Given the description of an element on the screen output the (x, y) to click on. 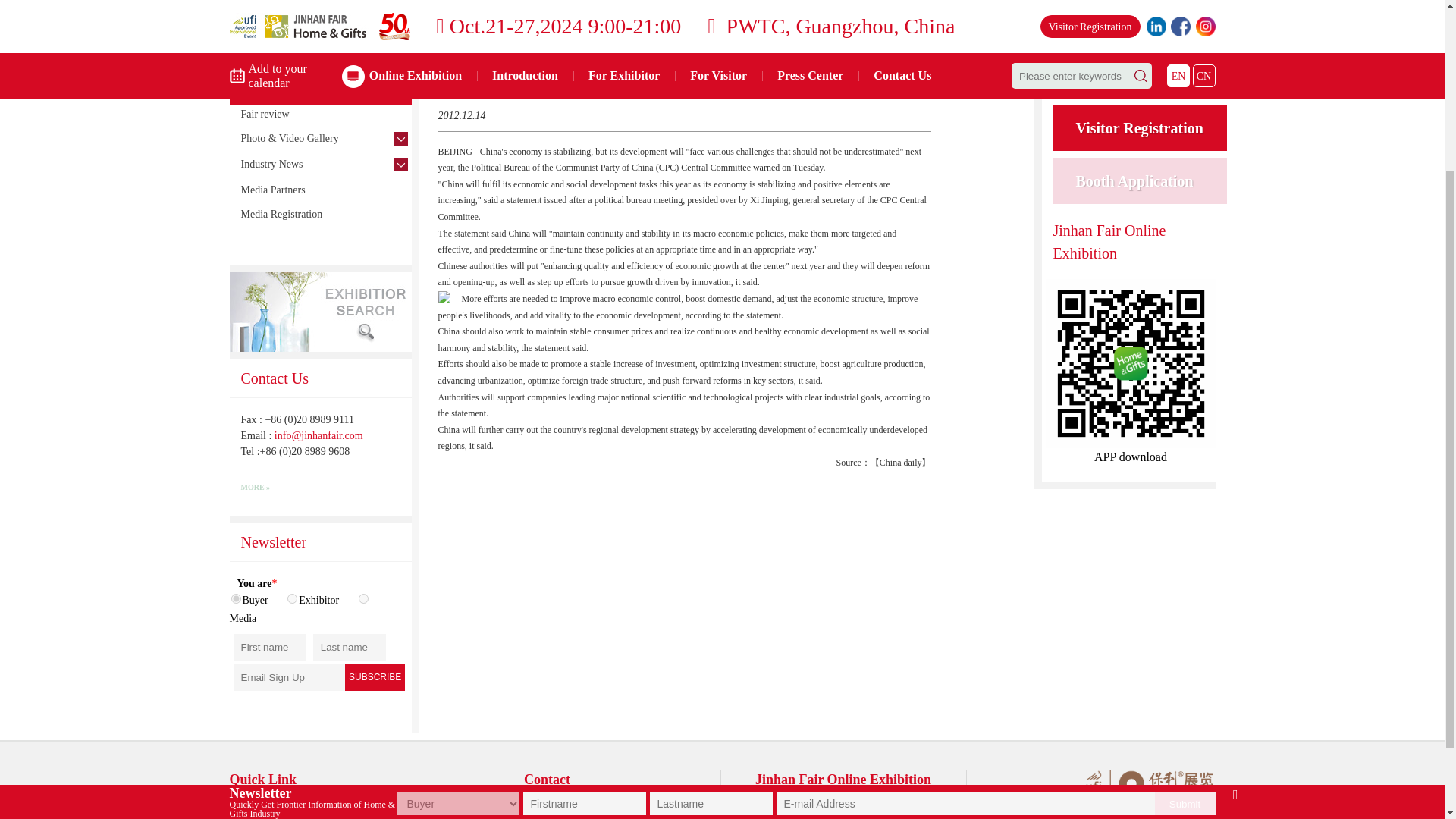
3 (363, 598)
2 (291, 598)
Subscribe (374, 677)
1 (235, 598)
